Given the description of an element on the screen output the (x, y) to click on. 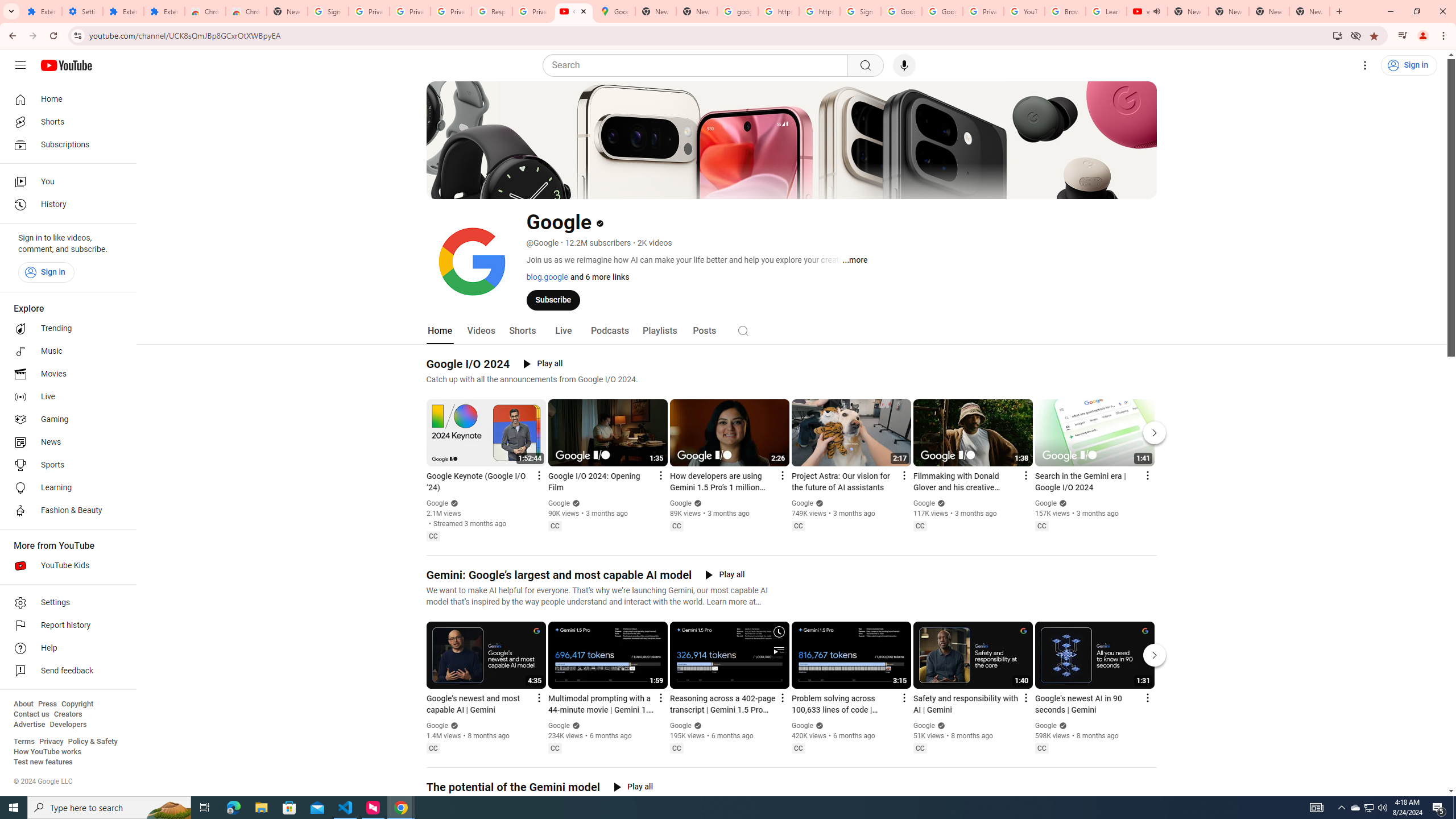
Sports (64, 464)
Movies (64, 373)
Control your music, videos, and more (1402, 35)
blog.google (546, 276)
Closed captions (1041, 748)
Google I/O 2024 (467, 363)
About (23, 703)
Bookmark this tab (1373, 35)
YouTube Kids (64, 565)
New Tab (287, 11)
Live (562, 330)
Search tabs (10, 11)
Search (742, 330)
